Given the description of an element on the screen output the (x, y) to click on. 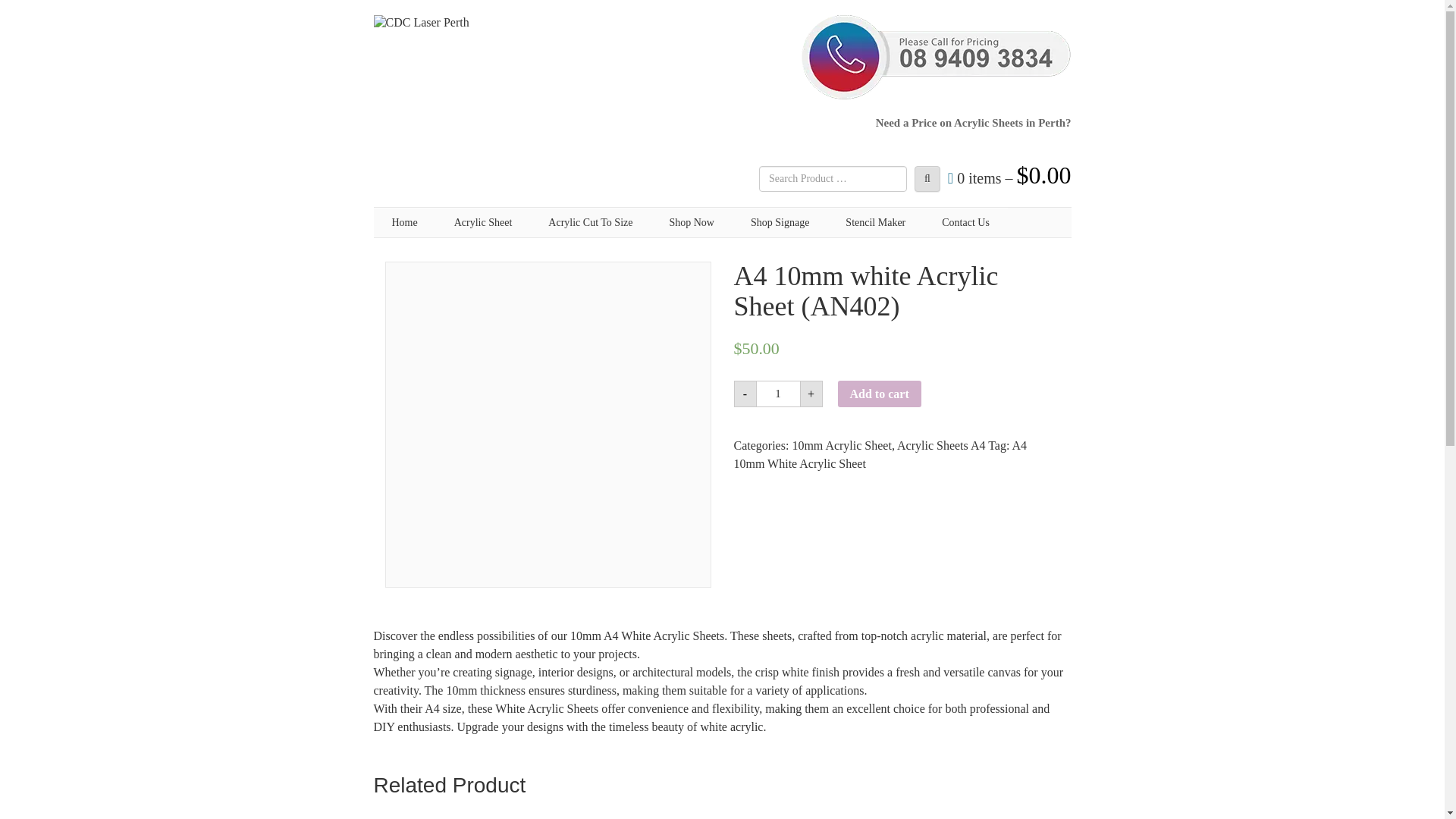
2-opal-code-opa001.jpg (632, 812)
47-red-code-red136.jpg (812, 812)
10mm Acrylic Sheet (841, 445)
'View your shopping' (1009, 177)
1 (778, 393)
A4 10mm White Acrylic Sheet (880, 454)
42-yellow-code-yell235.jpg (992, 812)
Contact Us (965, 223)
Acrylic Sheet (483, 223)
Acrylic Cut To Size (589, 223)
50-white-code-an402.jpg (451, 812)
Acrylic Sheets A4 (940, 445)
50-white-code-an402.jpg (547, 424)
Shop Signage (779, 223)
Qty (778, 393)
